Given the description of an element on the screen output the (x, y) to click on. 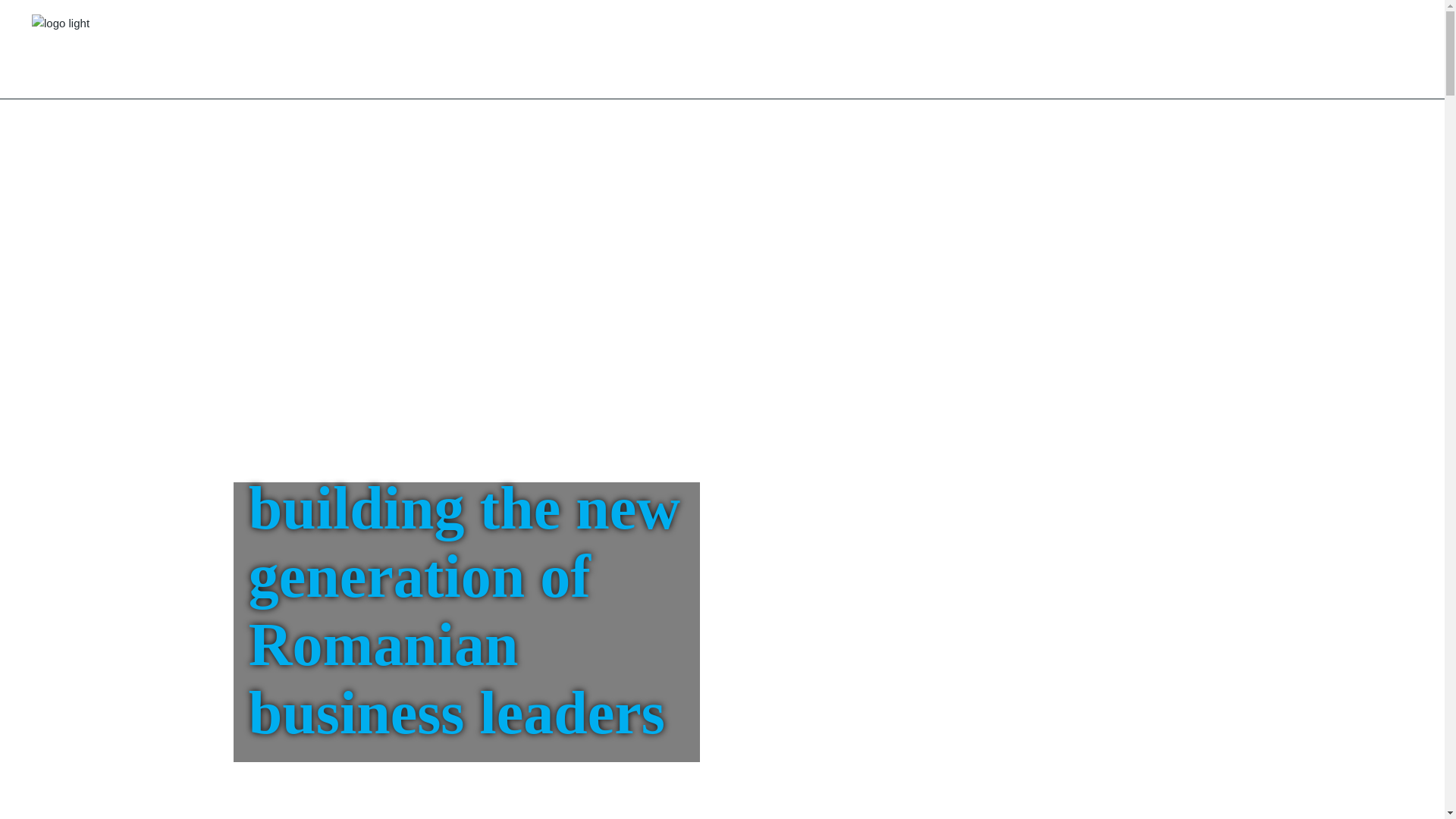
masterclasses (1023, 31)
download brochure (1300, 32)
